Given the description of an element on the screen output the (x, y) to click on. 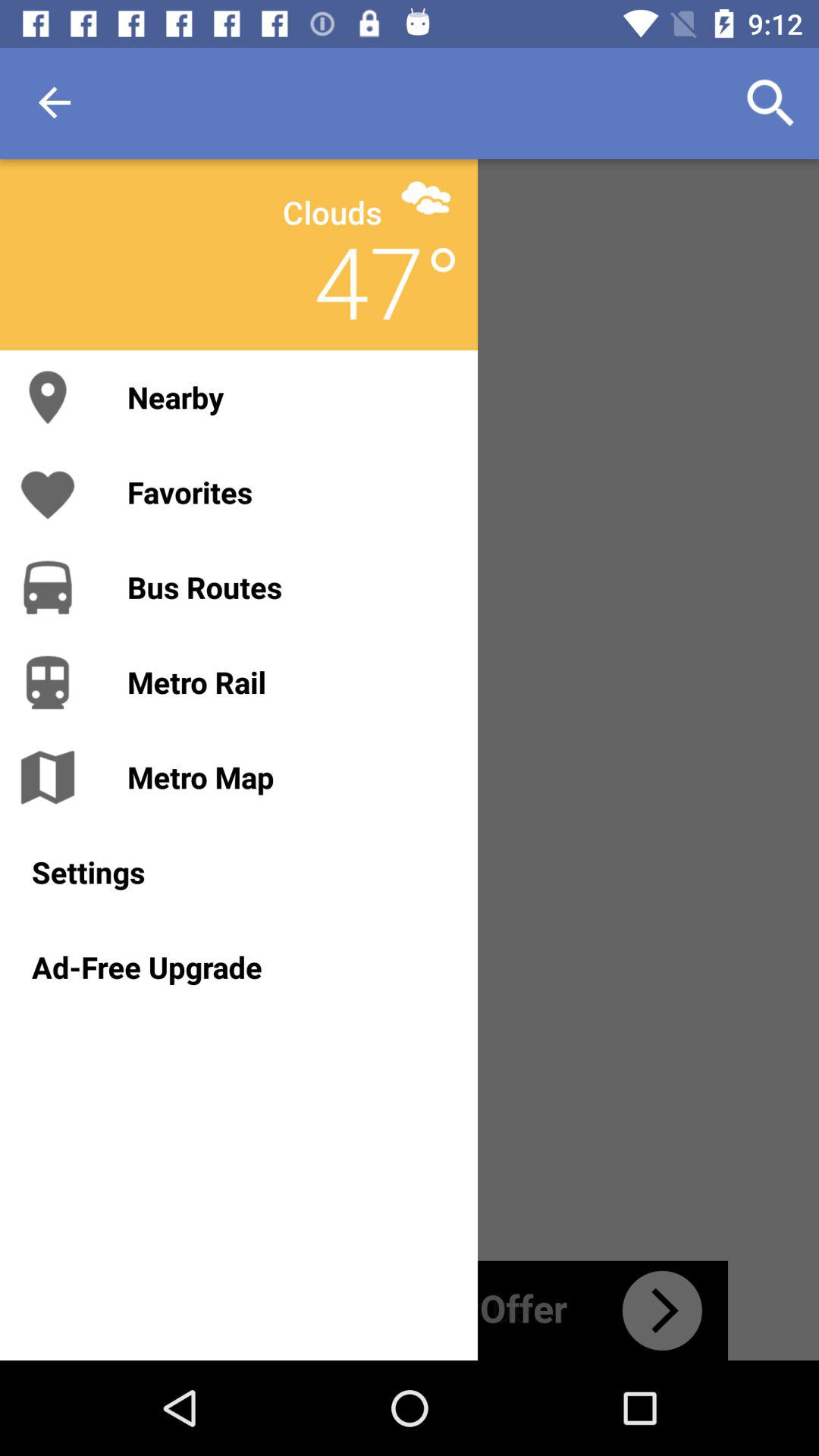
launch item above the nearby (332, 211)
